Given the description of an element on the screen output the (x, y) to click on. 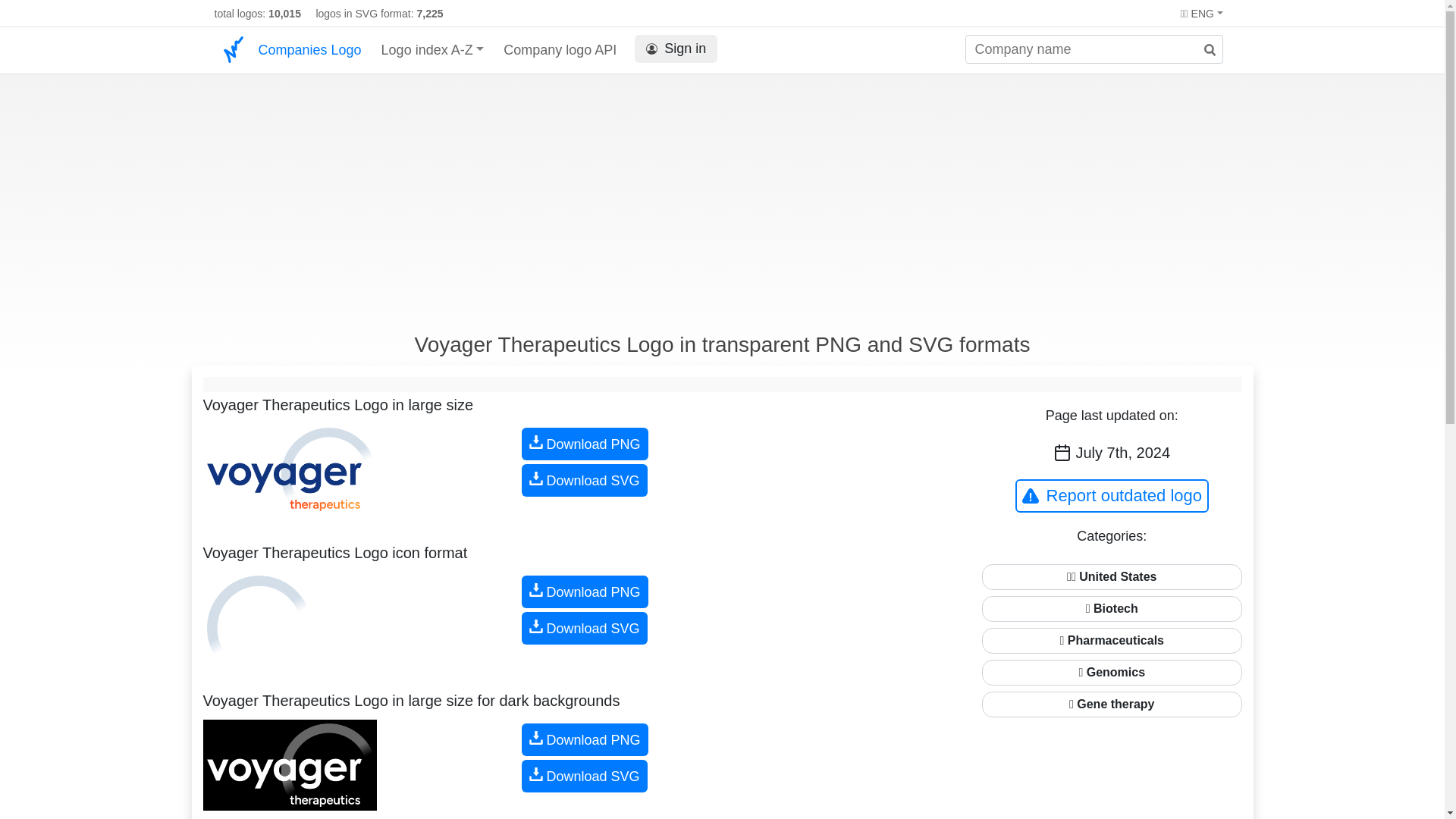
Logo index A-Z (432, 50)
Company logo API (560, 50)
Companies Logo (308, 50)
Download SVG (584, 480)
Sign in (676, 47)
Sign in (675, 49)
Add company logos to your Apps or Websites (560, 50)
Download PNG (584, 443)
